Given the description of an element on the screen output the (x, y) to click on. 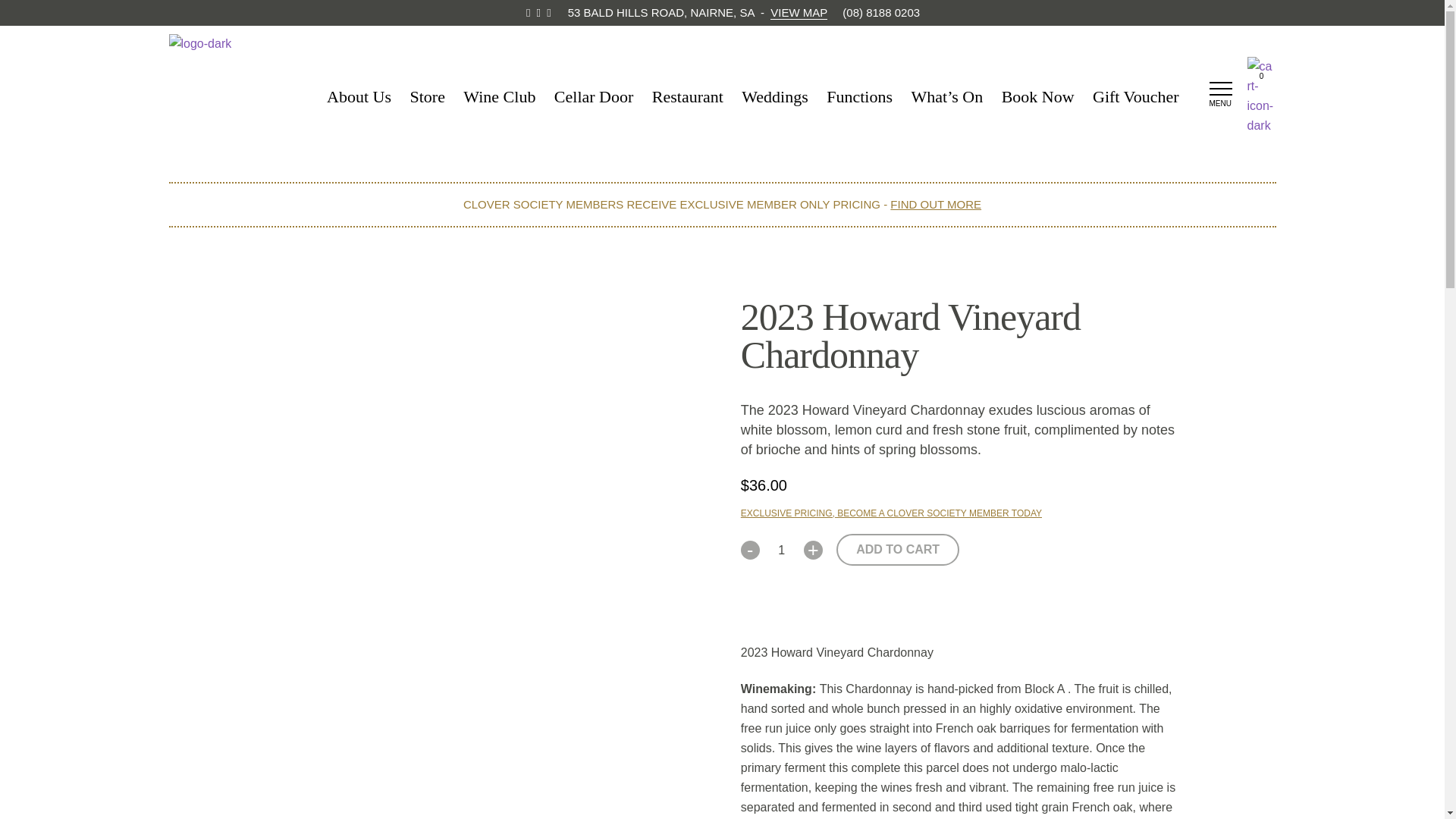
EXCLUSIVE PRICING, BECOME A CLOVER SOCIETY MEMBER TODAY (891, 512)
CONTINUE SHOPPING (233, 253)
Store (426, 96)
- (750, 549)
Restaurant (687, 96)
Gift Voucher (1135, 96)
ADD TO CART (897, 549)
Cellar Door (593, 96)
Qty (780, 550)
VIEW MAP (798, 12)
